Given the description of an element on the screen output the (x, y) to click on. 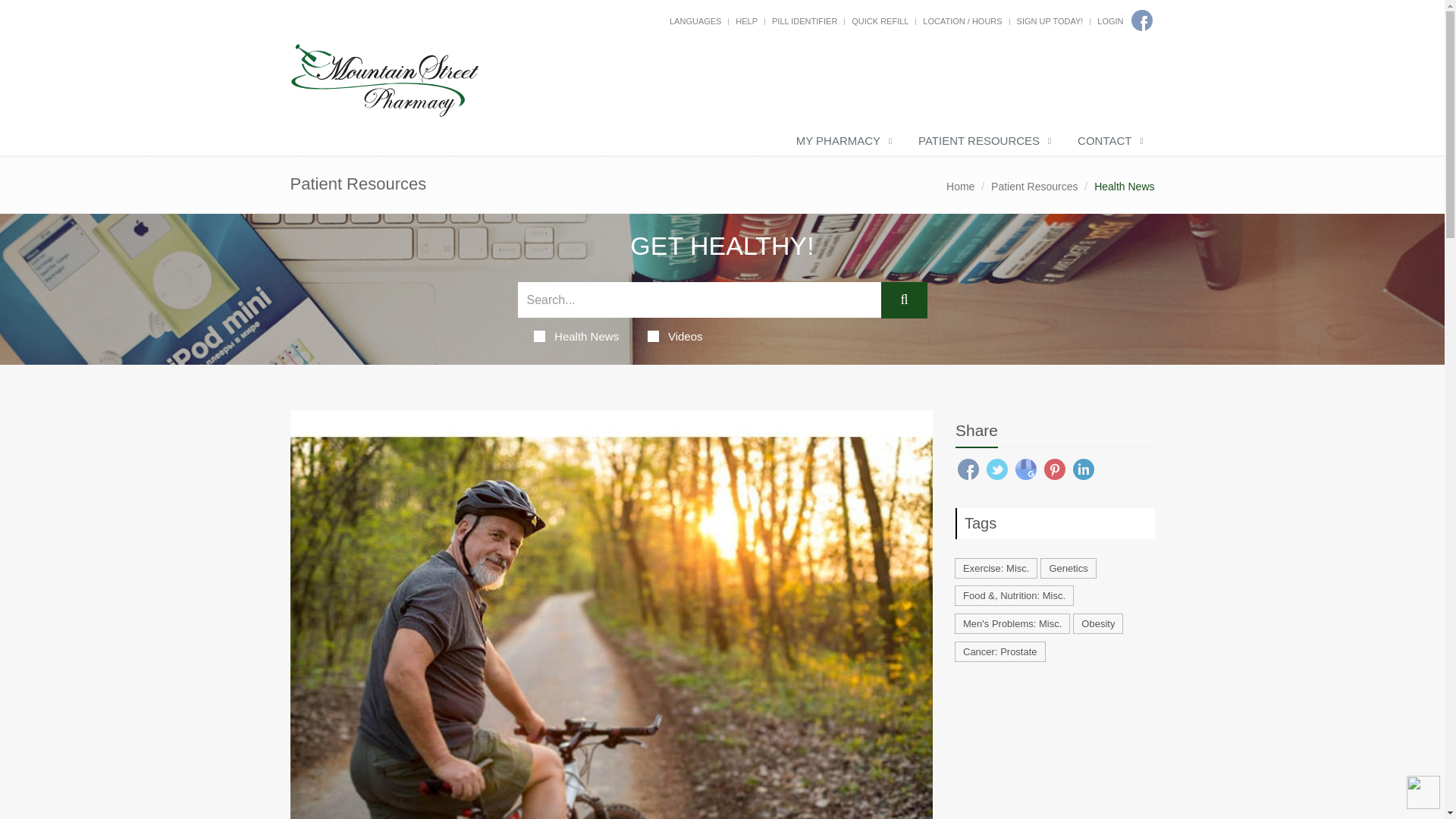
LANGUAGES (694, 20)
SIGN UP TODAY! (1049, 20)
PILL IDENTIFIER (804, 20)
HELP (746, 20)
Patient Resources (1034, 186)
MY PHARMACY (841, 141)
LOGIN (1109, 20)
PATIENT RESOURCES (982, 141)
Home (960, 186)
CONTACT (1108, 141)
QUICK REFILL (879, 20)
